Given the description of an element on the screen output the (x, y) to click on. 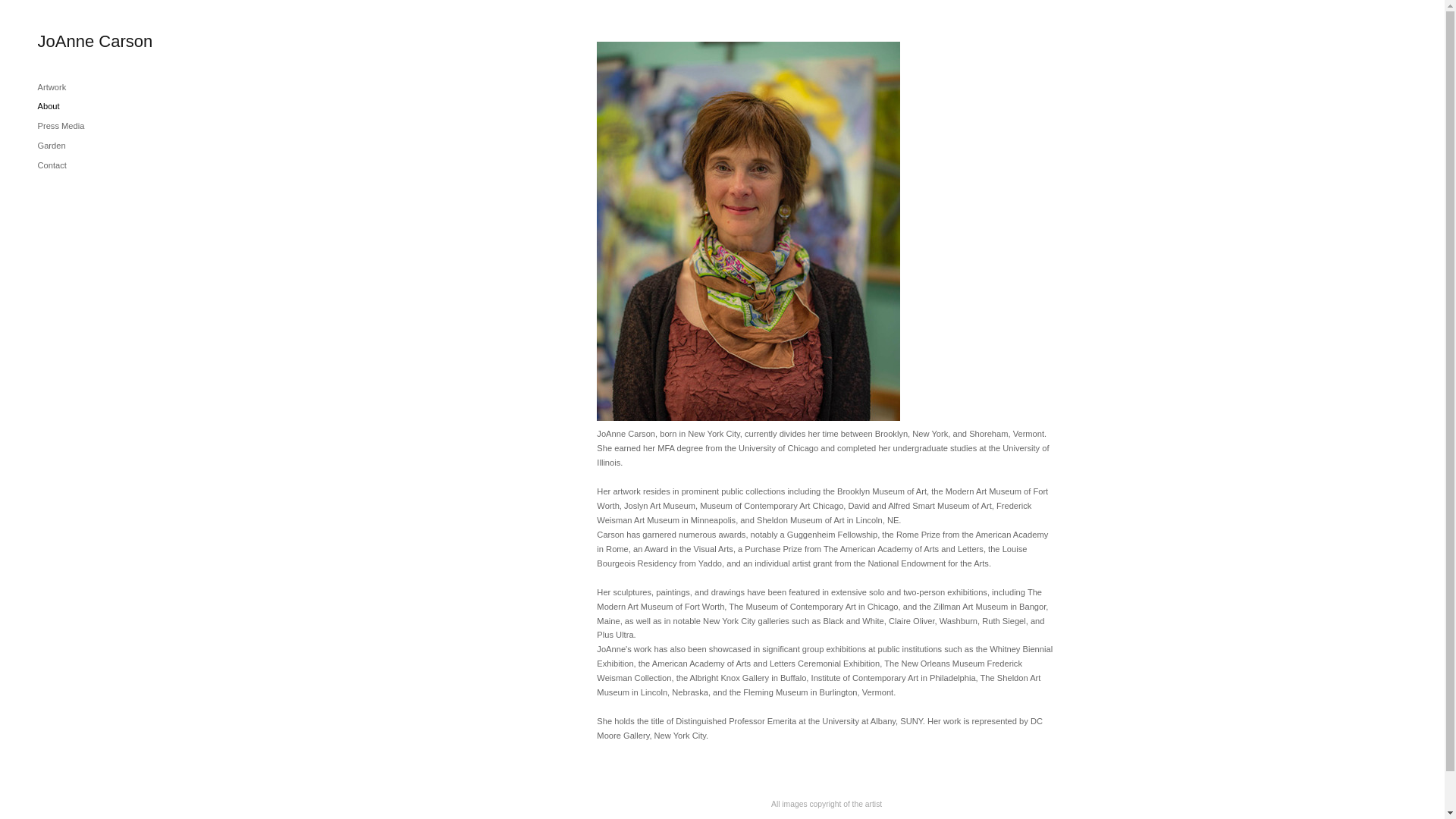
Garden (51, 144)
Press Media (60, 125)
JoAnne Carson (94, 42)
About (48, 105)
Artwork (51, 86)
Contact (51, 164)
